Given the description of an element on the screen output the (x, y) to click on. 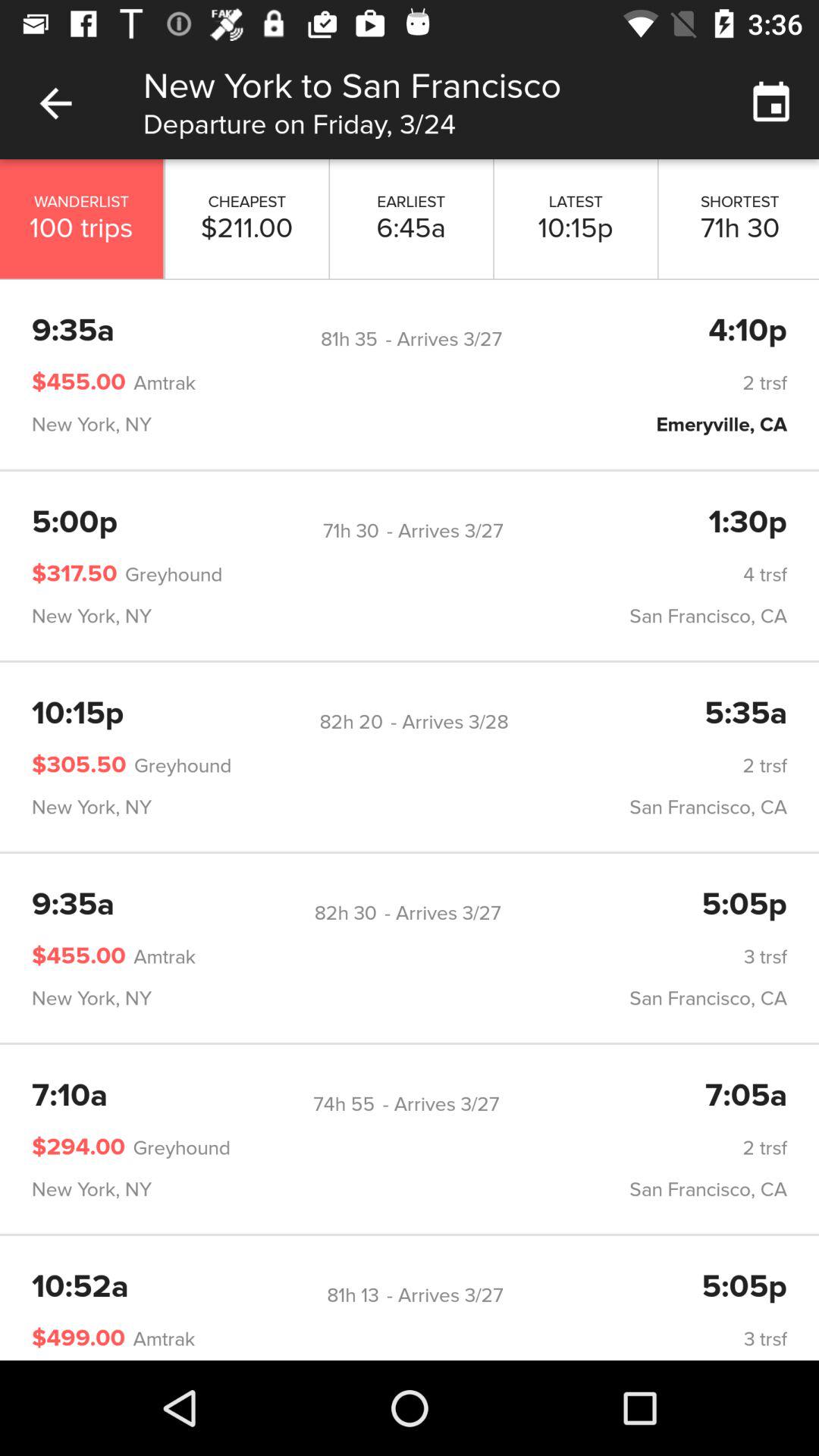
go back (55, 103)
